Given the description of an element on the screen output the (x, y) to click on. 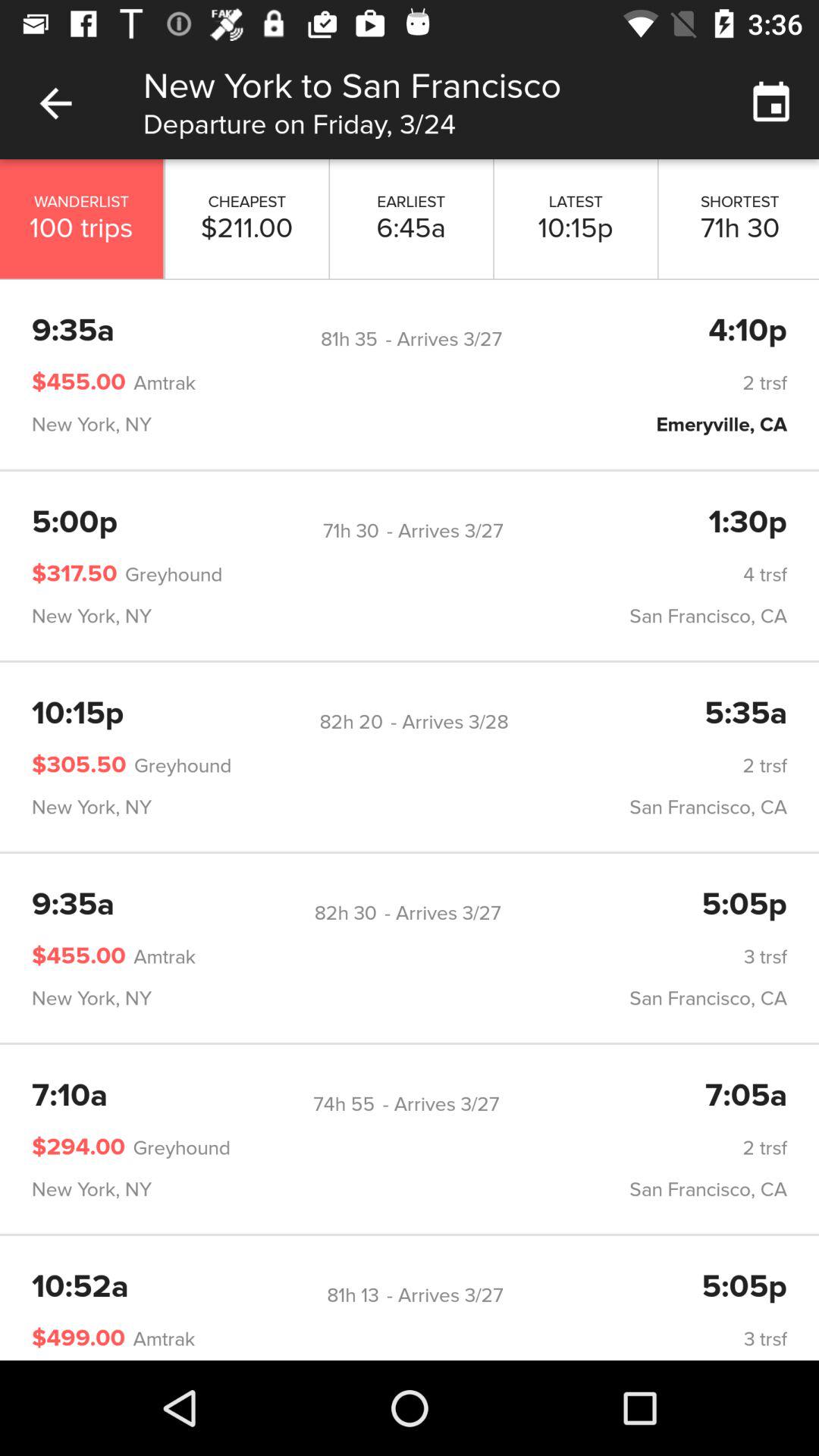
go back (55, 103)
